Given the description of an element on the screen output the (x, y) to click on. 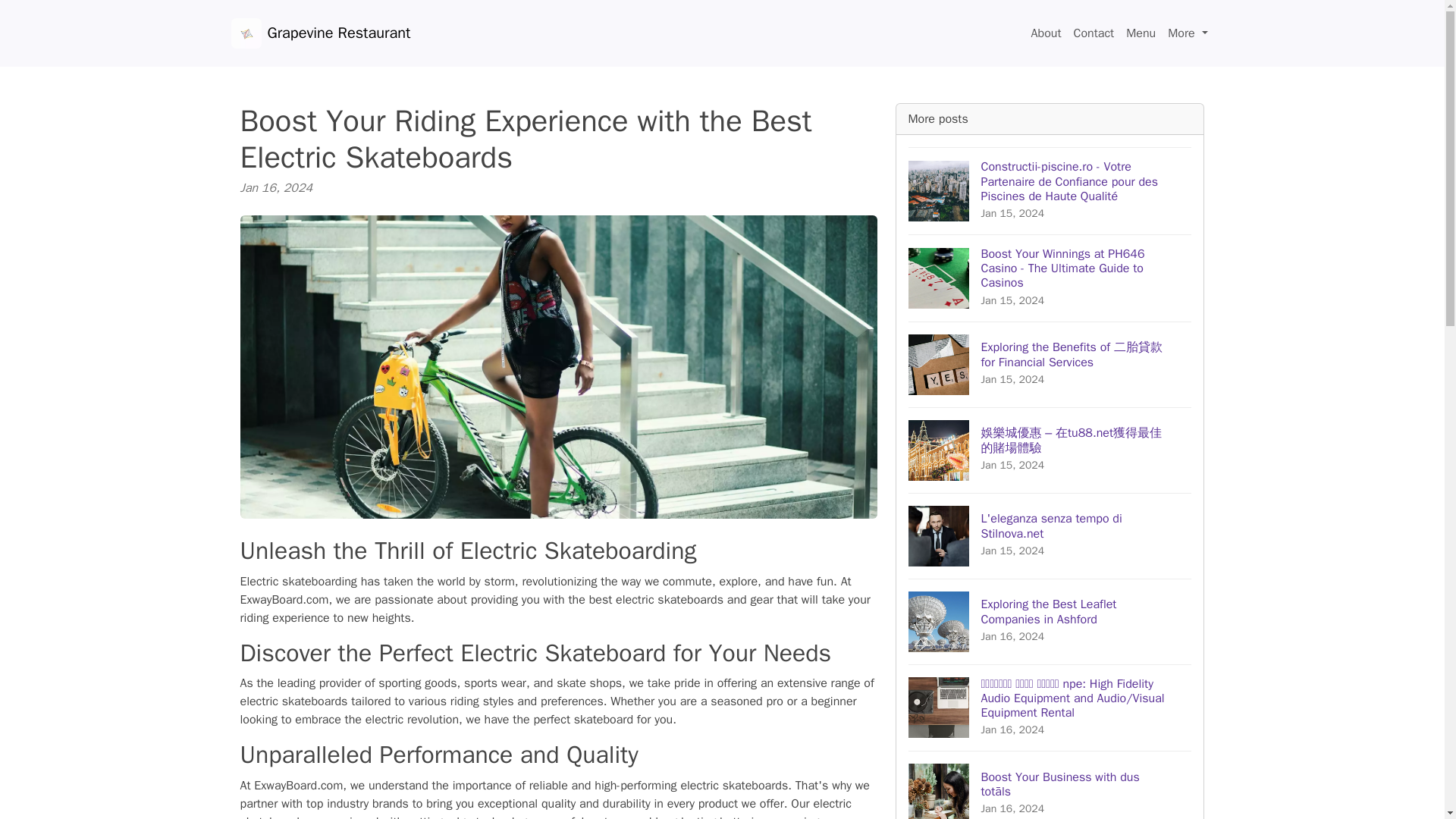
Grapevine Restaurant (320, 33)
Contact (1050, 535)
About (1094, 33)
More (1046, 33)
Menu (1186, 33)
